Given the description of an element on the screen output the (x, y) to click on. 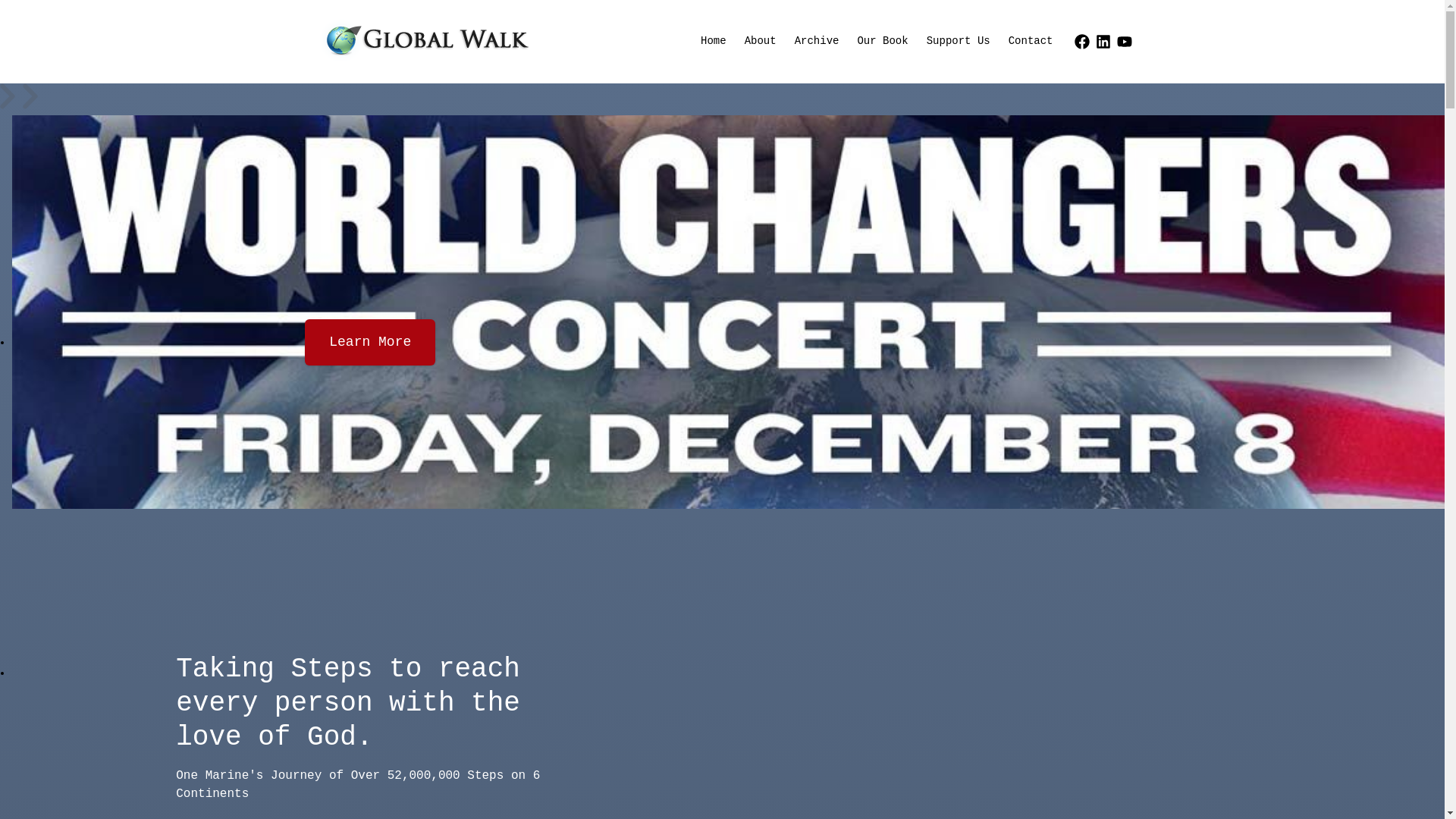
About Element type: text (760, 41)
Contact Element type: text (1030, 41)
Support Us Element type: text (958, 41)
Archive Element type: text (816, 41)
Home Element type: text (713, 41)
Our Book Element type: text (881, 41)
Learn More Element type: text (369, 342)
